Given the description of an element on the screen output the (x, y) to click on. 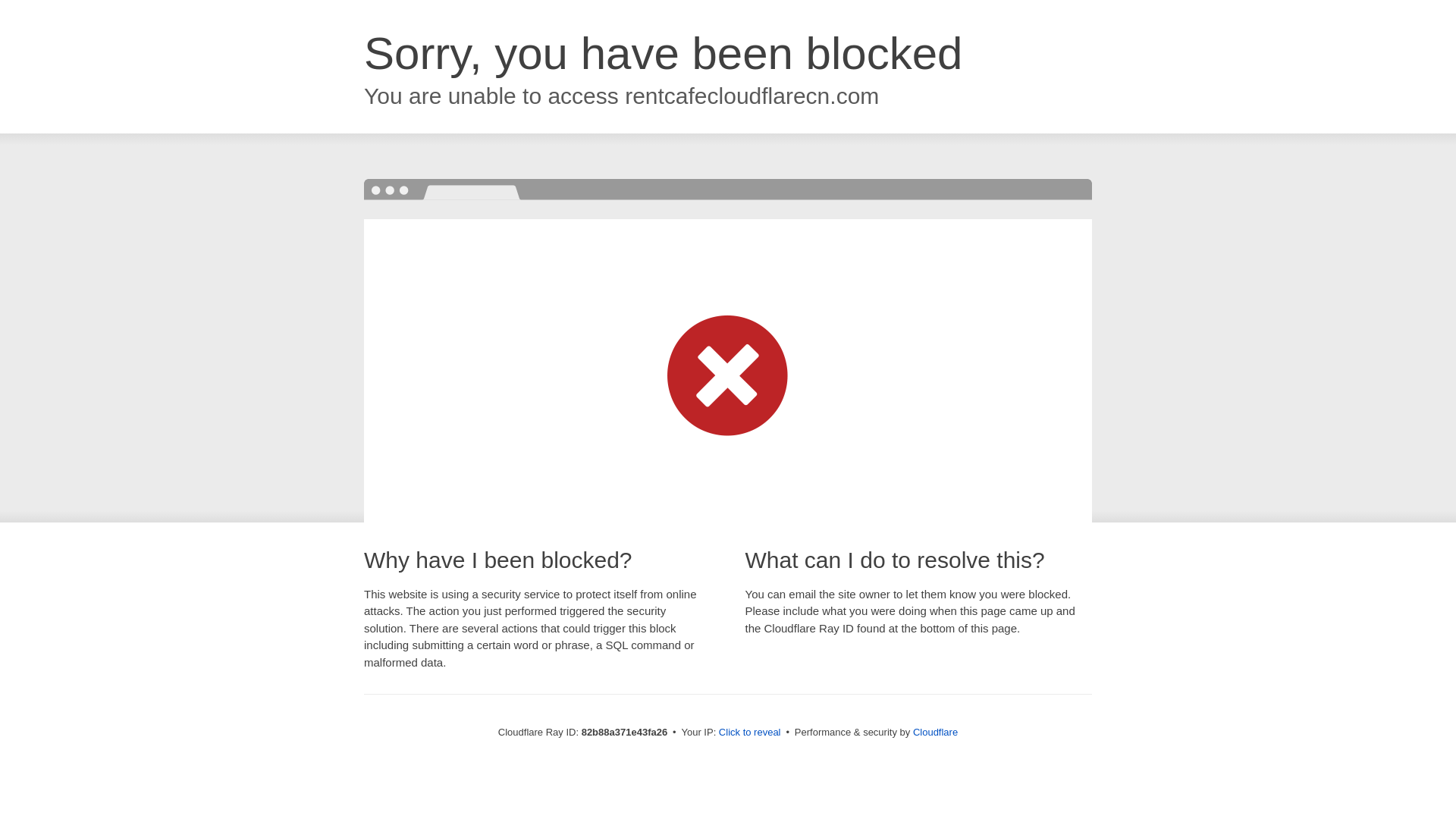
Cloudflare Element type: text (935, 731)
Click to reveal Element type: text (749, 732)
